Given the description of an element on the screen output the (x, y) to click on. 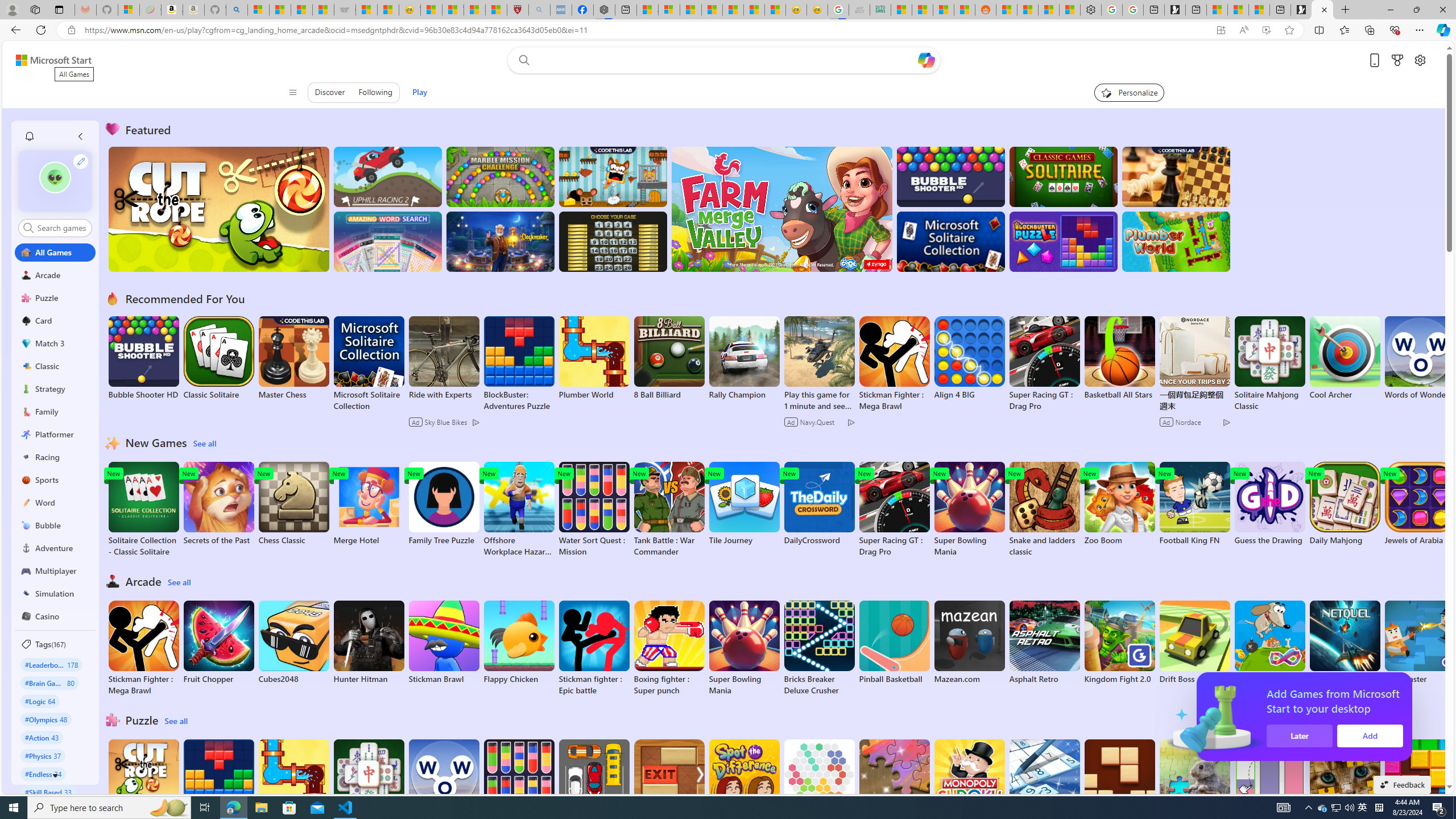
Snake and ladders classic (1044, 509)
Bubble Shooter HD (143, 358)
Align 4 BIG (968, 358)
Bricks Breaker Deluxe Crusher (818, 648)
Super Racing GT : Drag Pro (894, 509)
Solitaire Collection - Classic Solitaire (143, 509)
Deal or No Deal (612, 241)
